Given the description of an element on the screen output the (x, y) to click on. 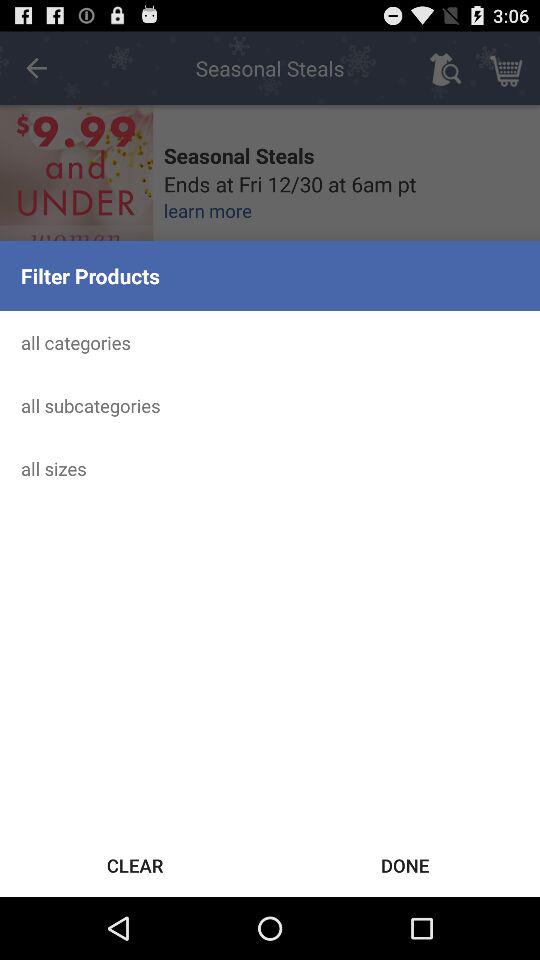
choose the item at the bottom left corner (135, 864)
